Given the description of an element on the screen output the (x, y) to click on. 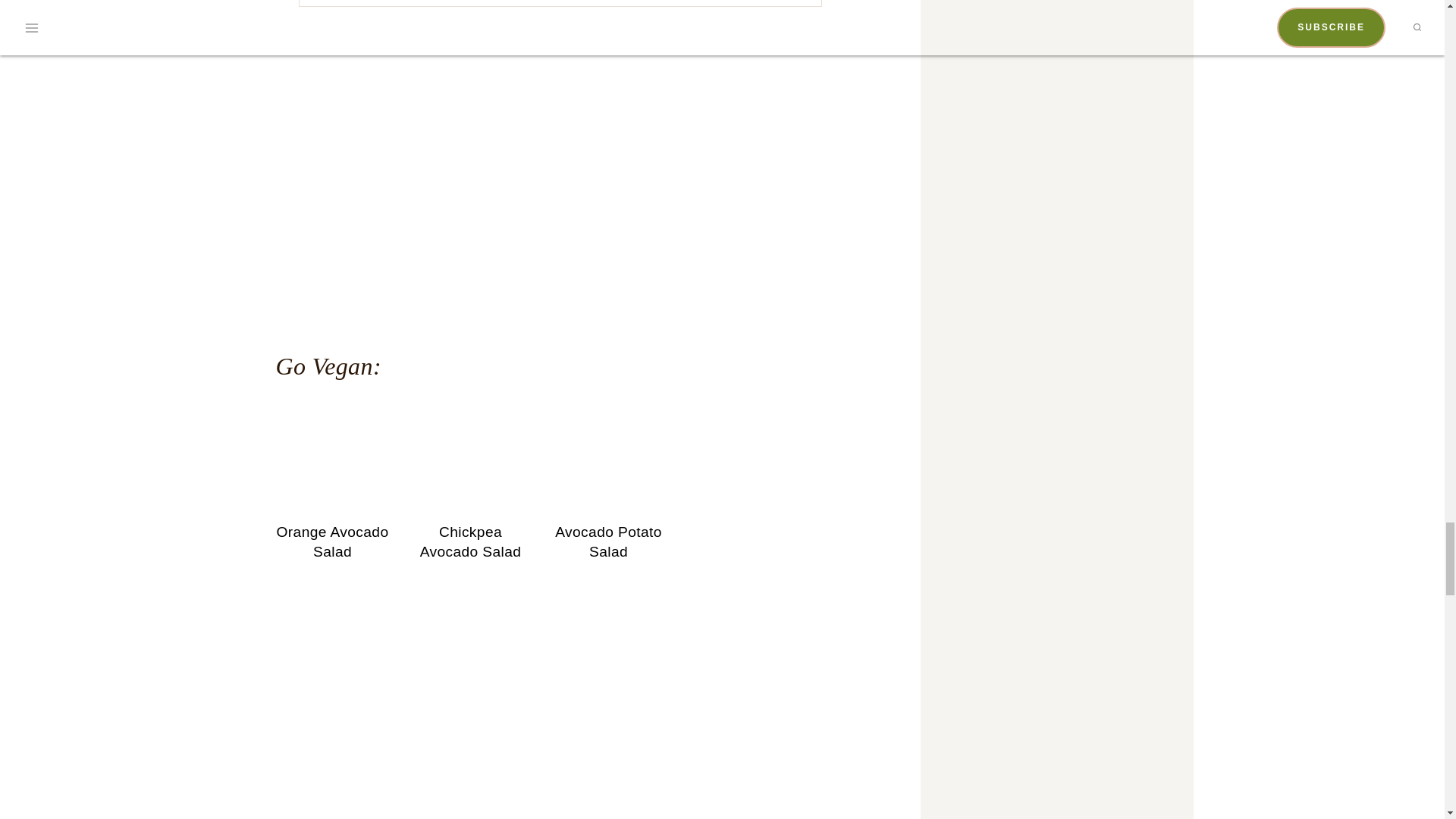
Chickpea Avocado Salad (470, 453)
Orange Avocado Salad (333, 453)
Avocado Potato Salad (608, 453)
